Given the description of an element on the screen output the (x, y) to click on. 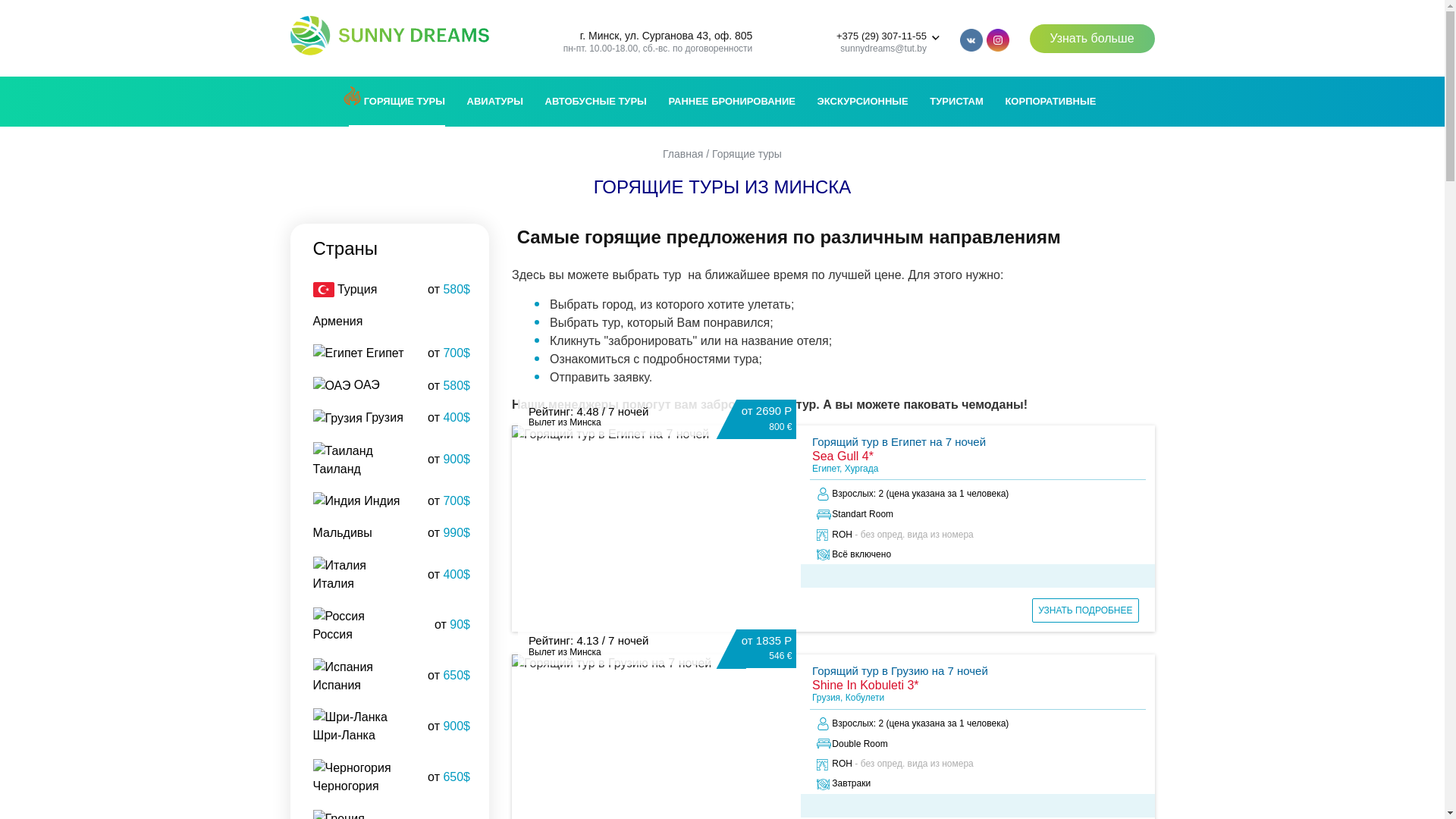
+375 (29) 307-11-55 Element type: text (881, 35)
sunnydreams@tut.by Element type: text (883, 48)
